Given the description of an element on the screen output the (x, y) to click on. 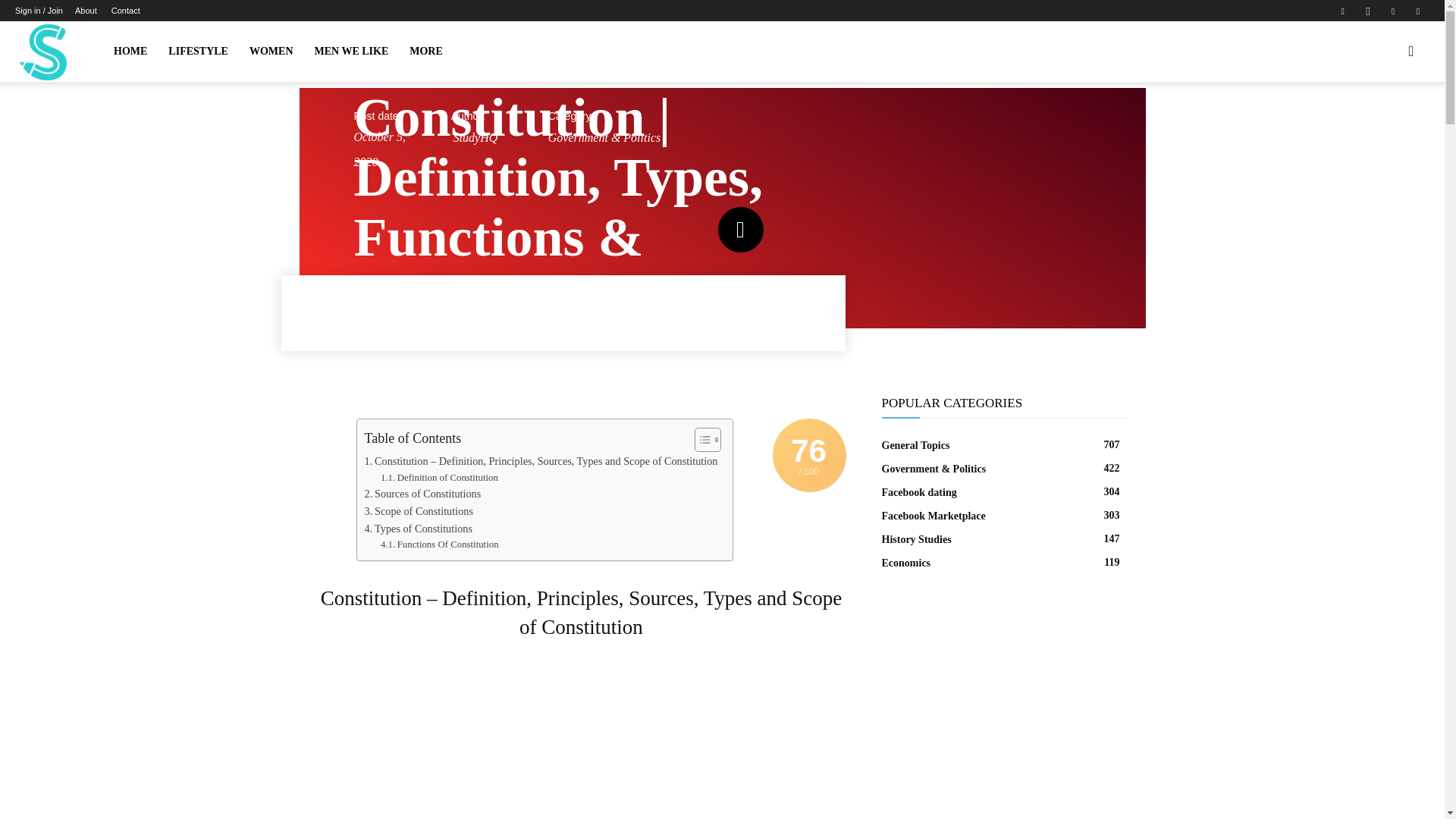
LIFESTYLE (197, 51)
Youtube (1417, 10)
Instagram (1367, 10)
Facebook (1343, 10)
Search (1379, 124)
Twitter (1393, 10)
StudyHQ.net (42, 51)
HOME (130, 51)
Contact (125, 10)
About (86, 10)
